Given the description of an element on the screen output the (x, y) to click on. 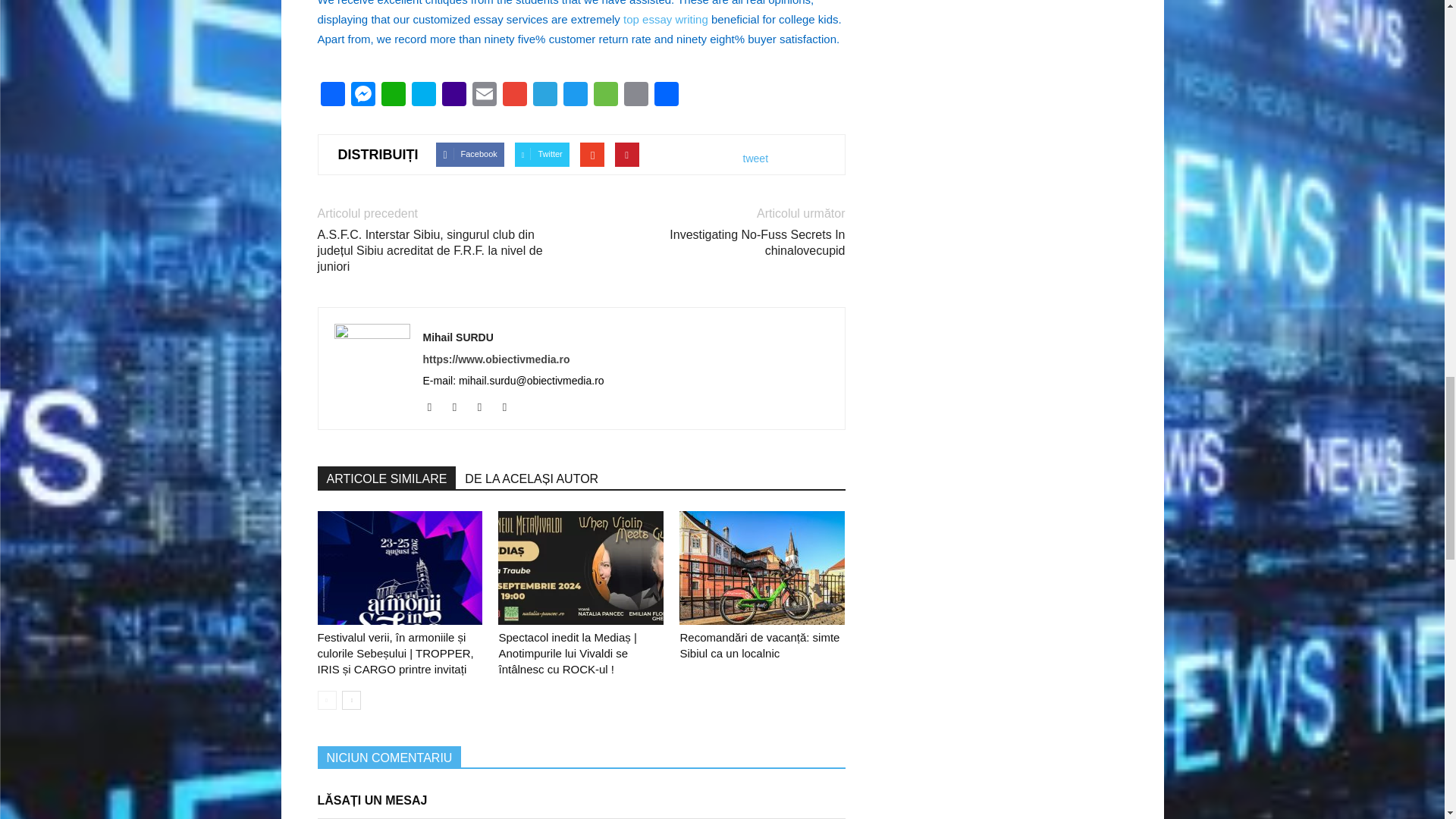
Yahoo Mail (453, 95)
Email (483, 95)
Messenger (362, 95)
WhatsApp (392, 95)
Skype (422, 95)
Facebook (332, 95)
